Given the description of an element on the screen output the (x, y) to click on. 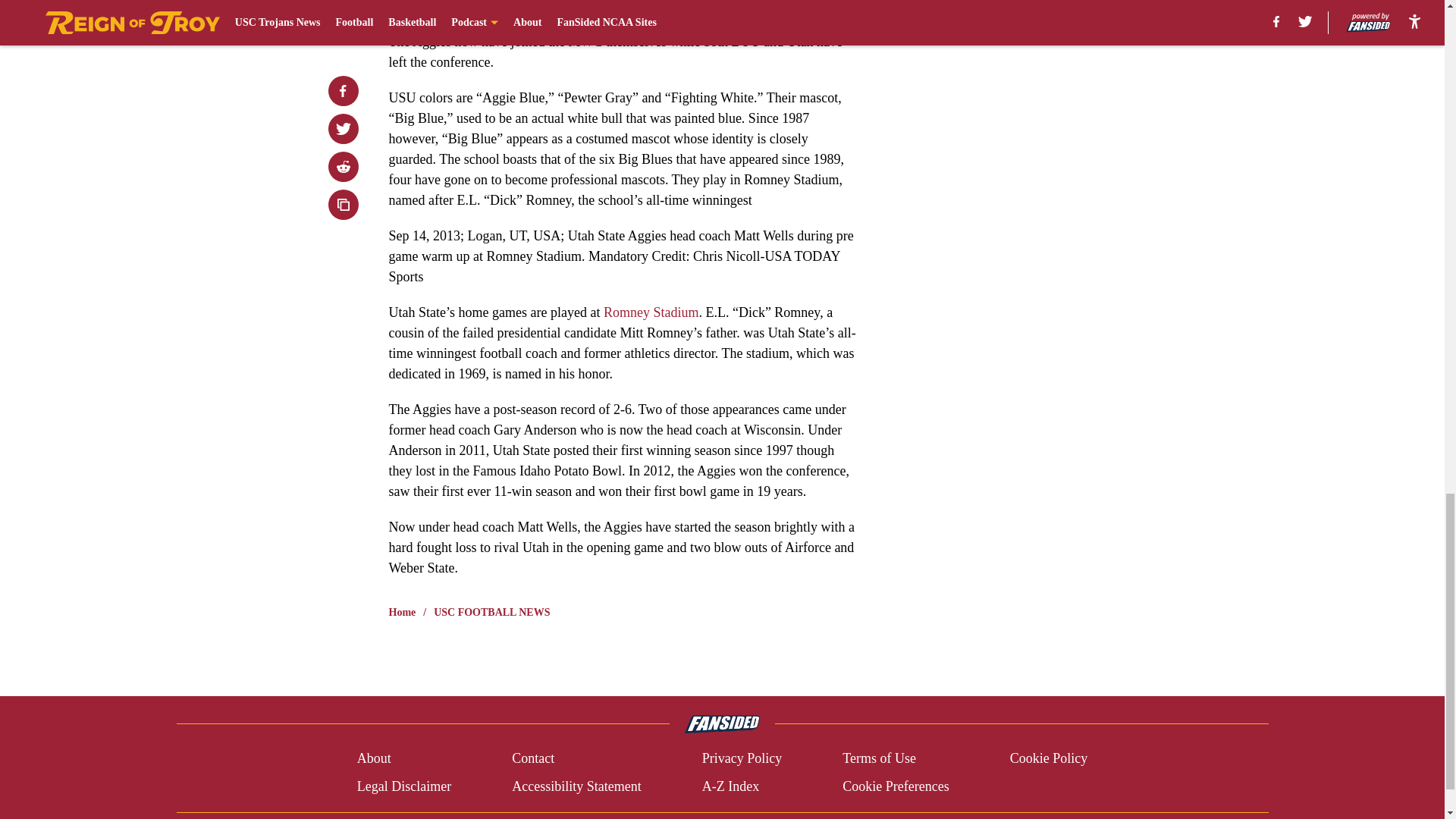
Terms of Use (879, 758)
Romney Stadium (651, 312)
Cookie Preferences (896, 786)
A-Z Index (729, 786)
Legal Disclaimer (403, 786)
About (373, 758)
Accessibility Statement (576, 786)
Cookie Policy (1048, 758)
Privacy Policy (742, 758)
Contact (533, 758)
